Given the description of an element on the screen output the (x, y) to click on. 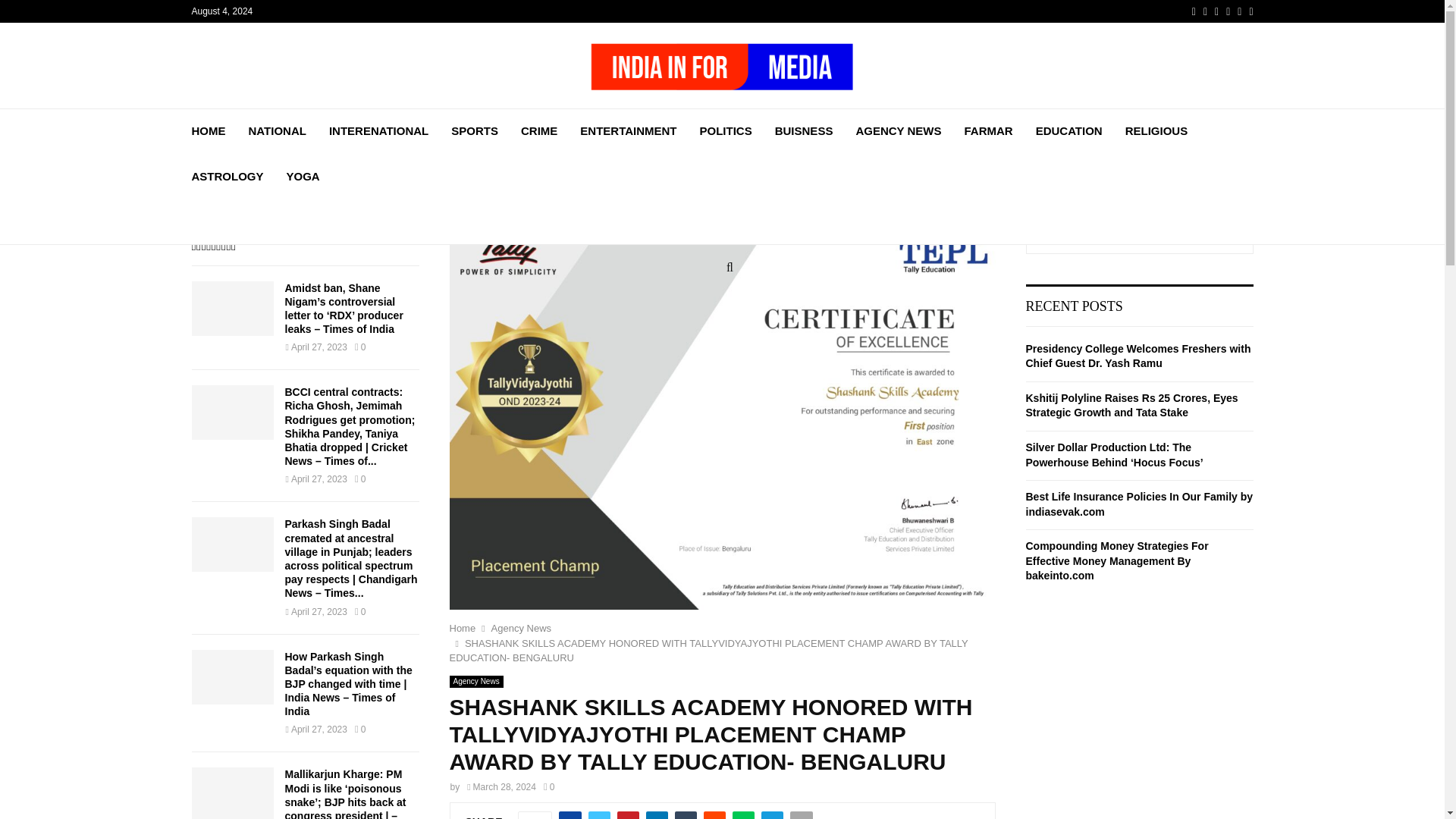
INTERENATIONAL (378, 130)
BUISNESS (803, 130)
POLITICS (726, 130)
ASTROLOGY (226, 176)
AGENCY NEWS (898, 130)
ENTERTAINMENT (628, 130)
FARMAR (987, 130)
Home (462, 627)
Agency News (521, 627)
Like (535, 815)
SPORTS (474, 130)
RELIGIOUS (1156, 130)
EDUCATION (1068, 130)
NATIONAL (276, 130)
